Given the description of an element on the screen output the (x, y) to click on. 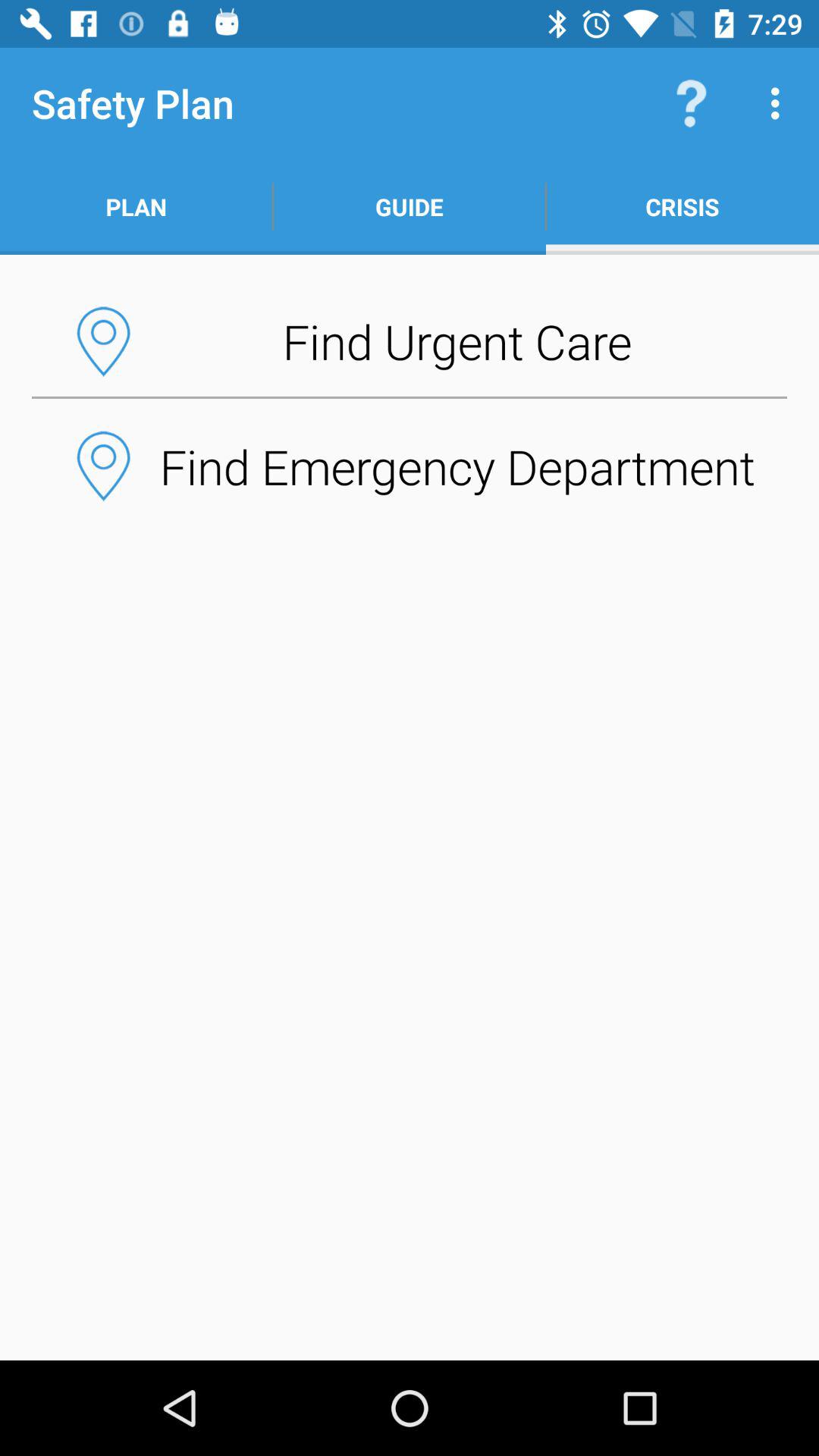
press app next to the guide icon (682, 206)
